Given the description of an element on the screen output the (x, y) to click on. 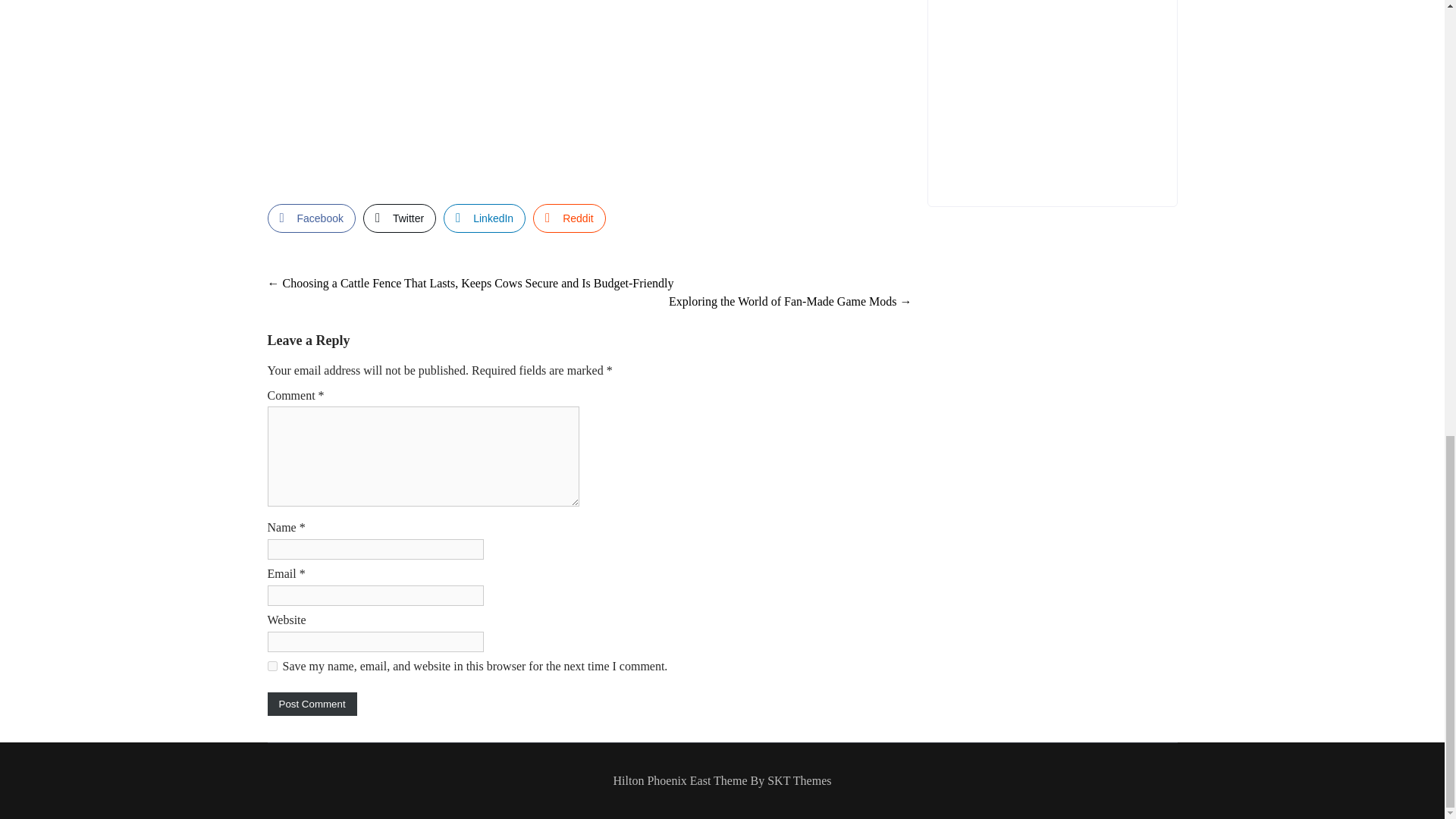
yes (271, 665)
Facebook (310, 217)
Twitter (398, 217)
Reddit (568, 217)
Post Comment (311, 703)
Post Comment (311, 703)
LinkedIn (484, 217)
